Given the description of an element on the screen output the (x, y) to click on. 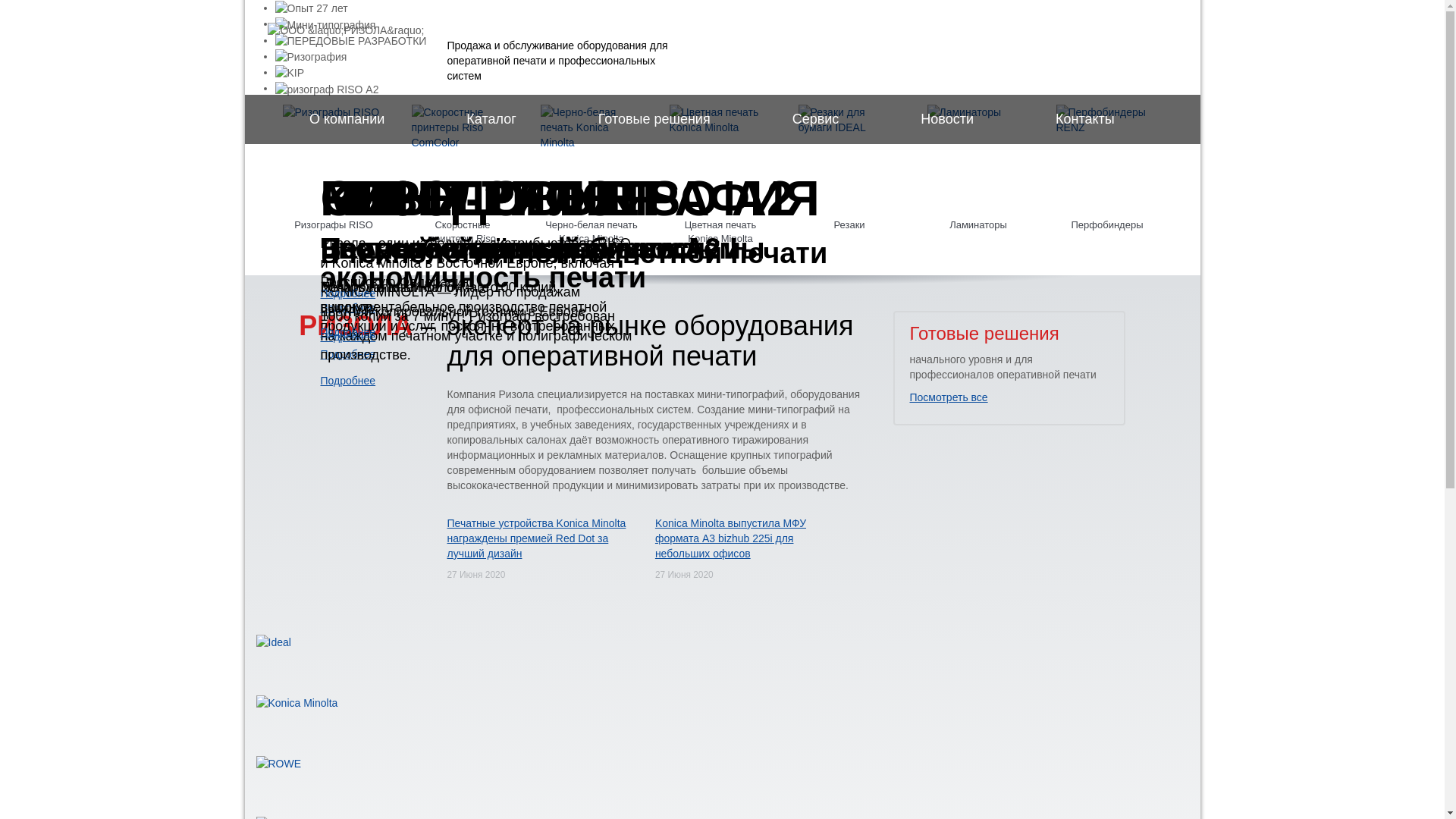
+375 (17) 350-00-04  Element type: text (1062, 49)
